Given the description of an element on the screen output the (x, y) to click on. 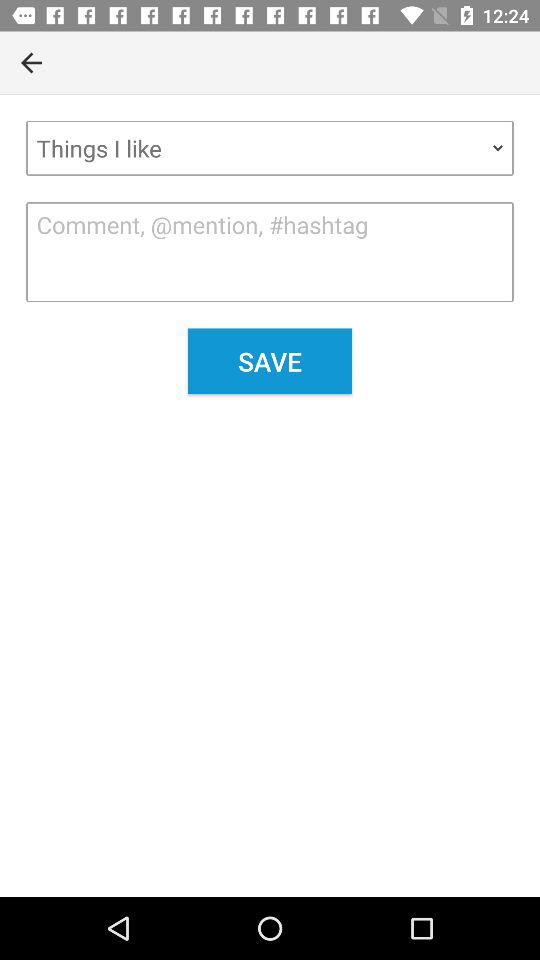
select the comments box (269, 252)
